Given the description of an element on the screen output the (x, y) to click on. 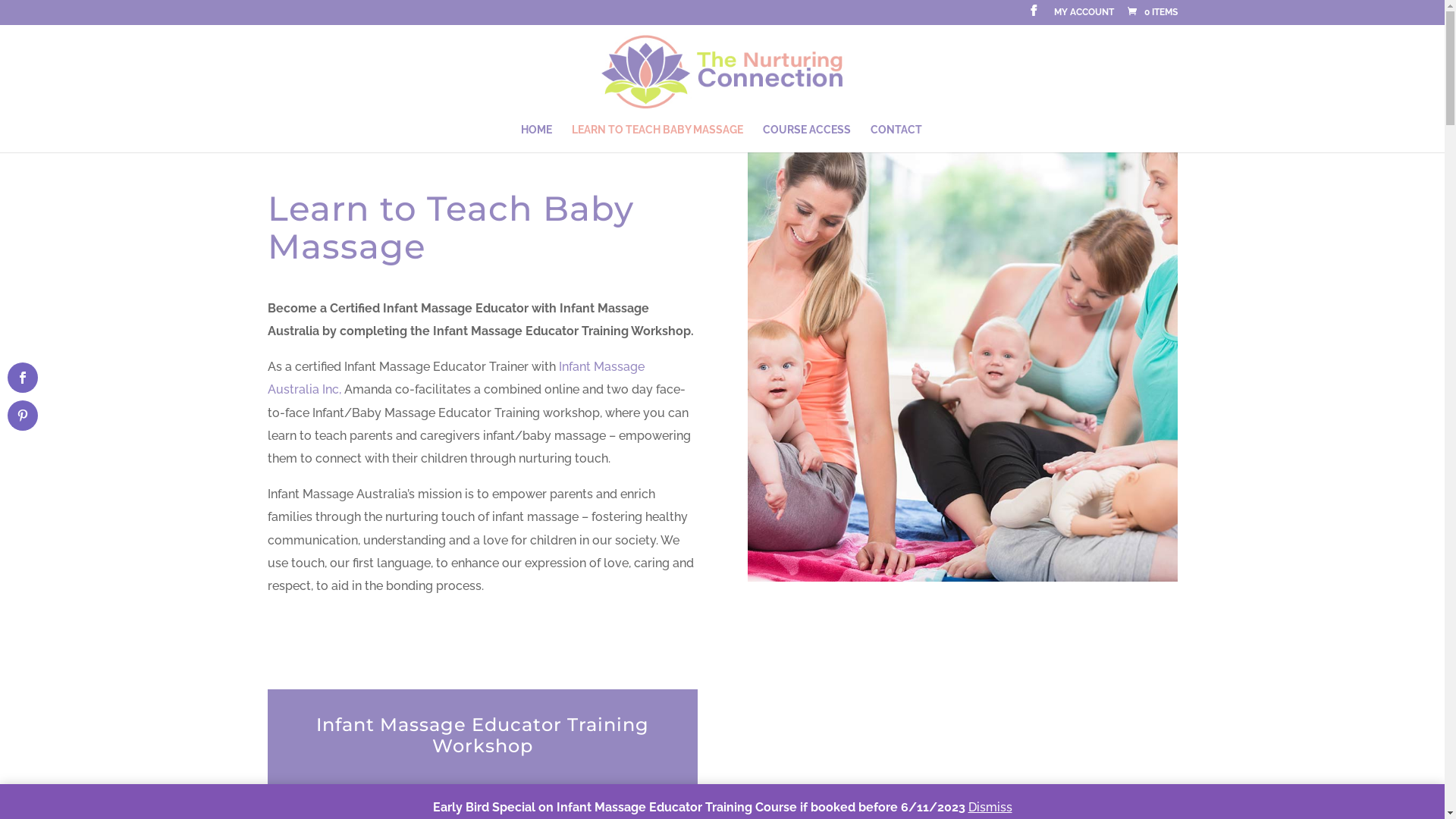
HOME Element type: text (536, 138)
MY ACCOUNT Element type: text (1083, 15)
0 ITEMS Element type: text (1151, 11)
Dismiss Element type: text (989, 807)
COURSE ACCESS Element type: text (806, 138)
LEARN TO TEACH BABY MASSAGE Element type: text (657, 138)
CONTACT Element type: text (896, 138)
Infant Massage Australia Inc, Element type: text (454, 377)
